Given the description of an element on the screen output the (x, y) to click on. 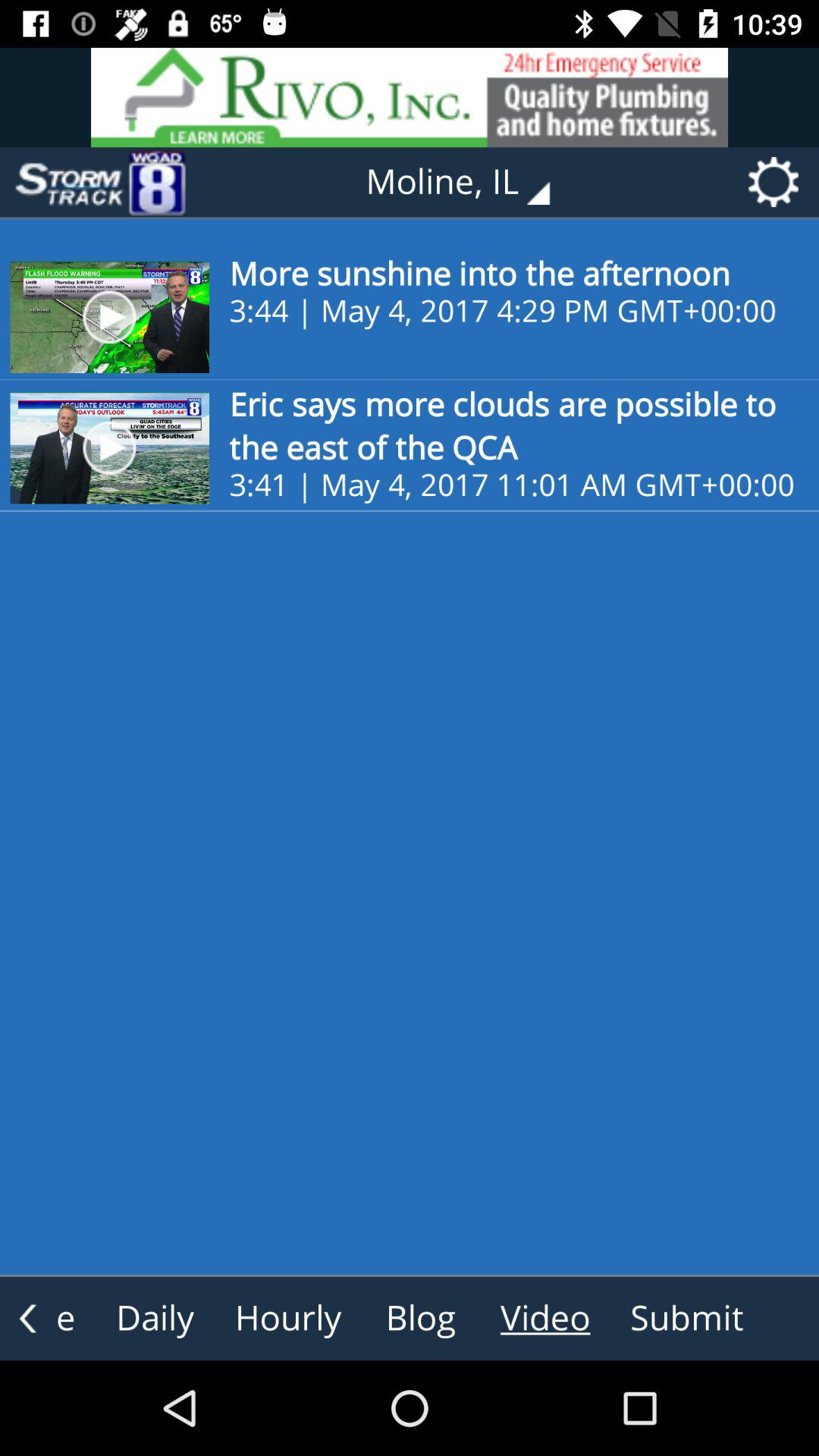
select item to the left of the moline, il icon (99, 182)
